Given the description of an element on the screen output the (x, y) to click on. 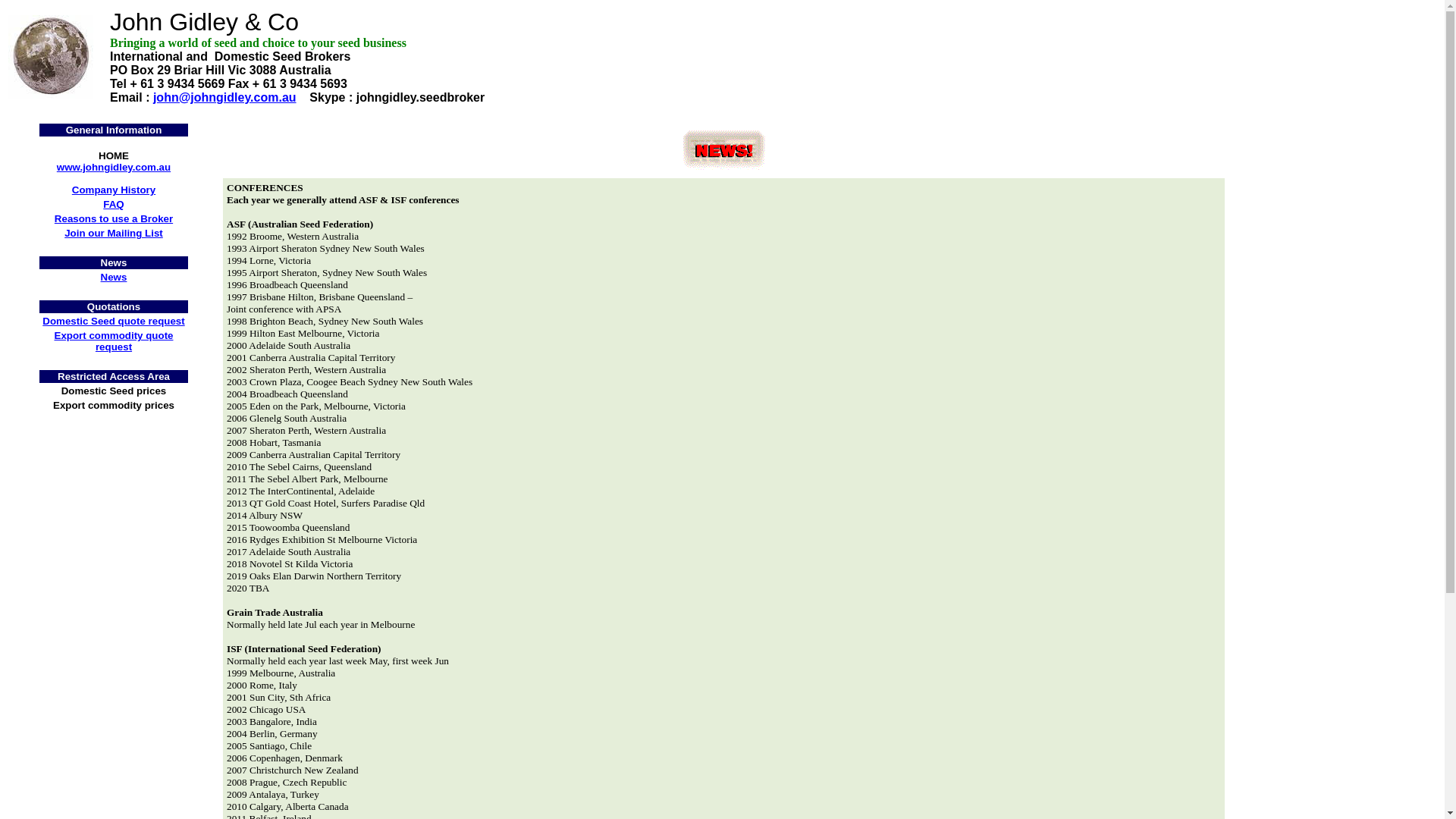
Export commodity quote request Element type: text (113, 340)
News Element type: text (113, 276)
Reasons to use a Broker Element type: text (113, 218)
FAQ Element type: text (113, 204)
Join our Mailing List Element type: text (113, 232)
Domestic Seed quote request Element type: text (113, 320)
john@johngidley.com.au Element type: text (224, 97)
Company History Element type: text (113, 189)
www.johngidley.com.au Element type: text (113, 166)
